Given the description of an element on the screen output the (x, y) to click on. 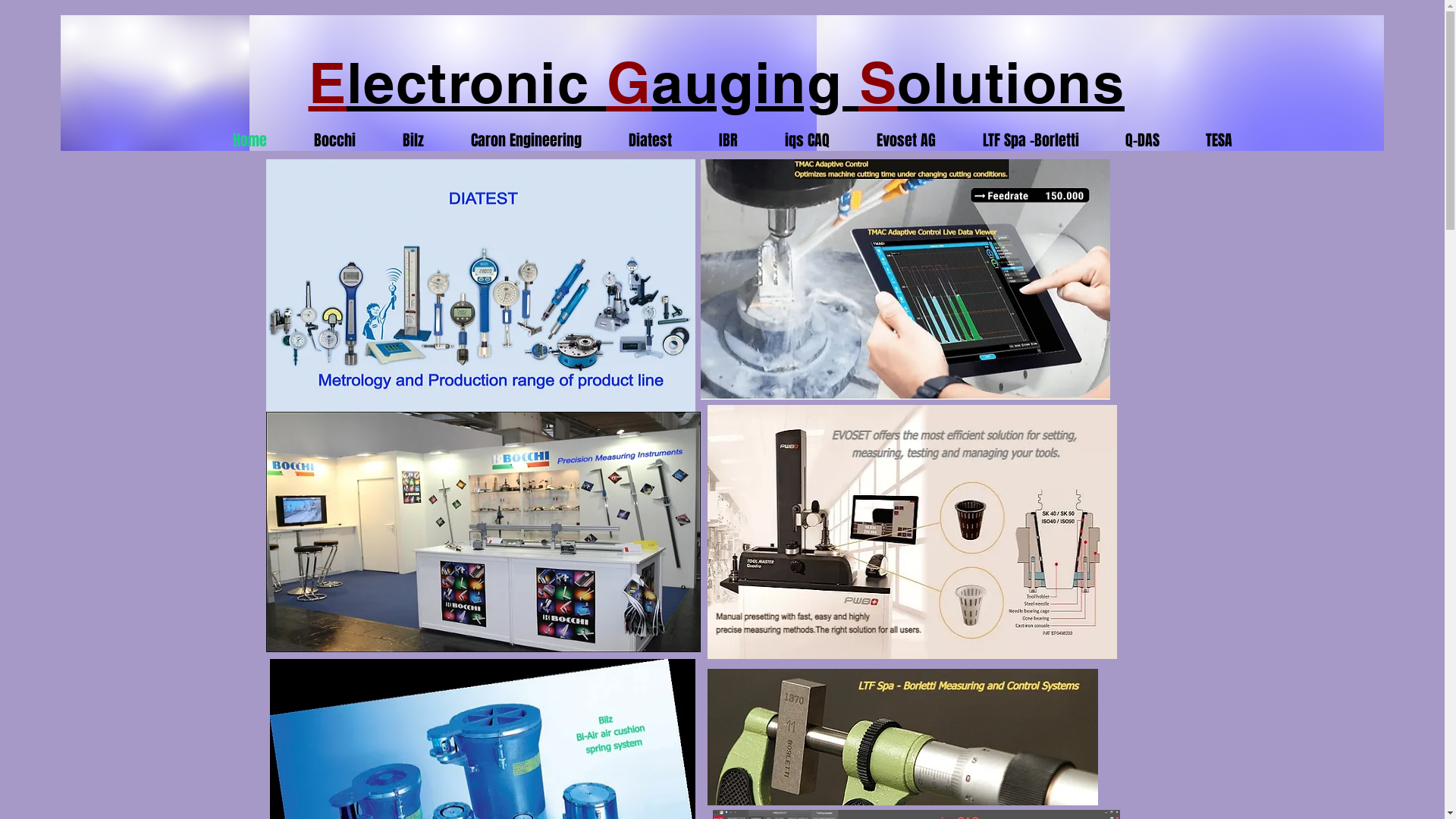
Q-DAS Element type: text (1130, 140)
TMAC Adaptive Control sytem Element type: hover (905, 279)
BOCCHI Product range Element type: hover (482, 531)
Evoset AG Element type: text (893, 140)
IBR Element type: text (715, 140)
Bilz Element type: text (401, 140)
Borletti Micrometer.jpg Element type: hover (901, 736)
Home Element type: text (237, 140)
Diatest Element type: text (638, 140)
LTF Spa -Borletti Element type: text (1017, 140)
TESA Element type: text (1206, 140)
Electronic Gauging Solutions Element type: text (715, 82)
Tool Master Quadra Element type: hover (911, 531)
Bocchi Element type: text (321, 140)
DIATEST Product range  Element type: hover (479, 302)
iqs CAQ Element type: text (794, 140)
Caron Engineering Element type: text (514, 140)
